Given the description of an element on the screen output the (x, y) to click on. 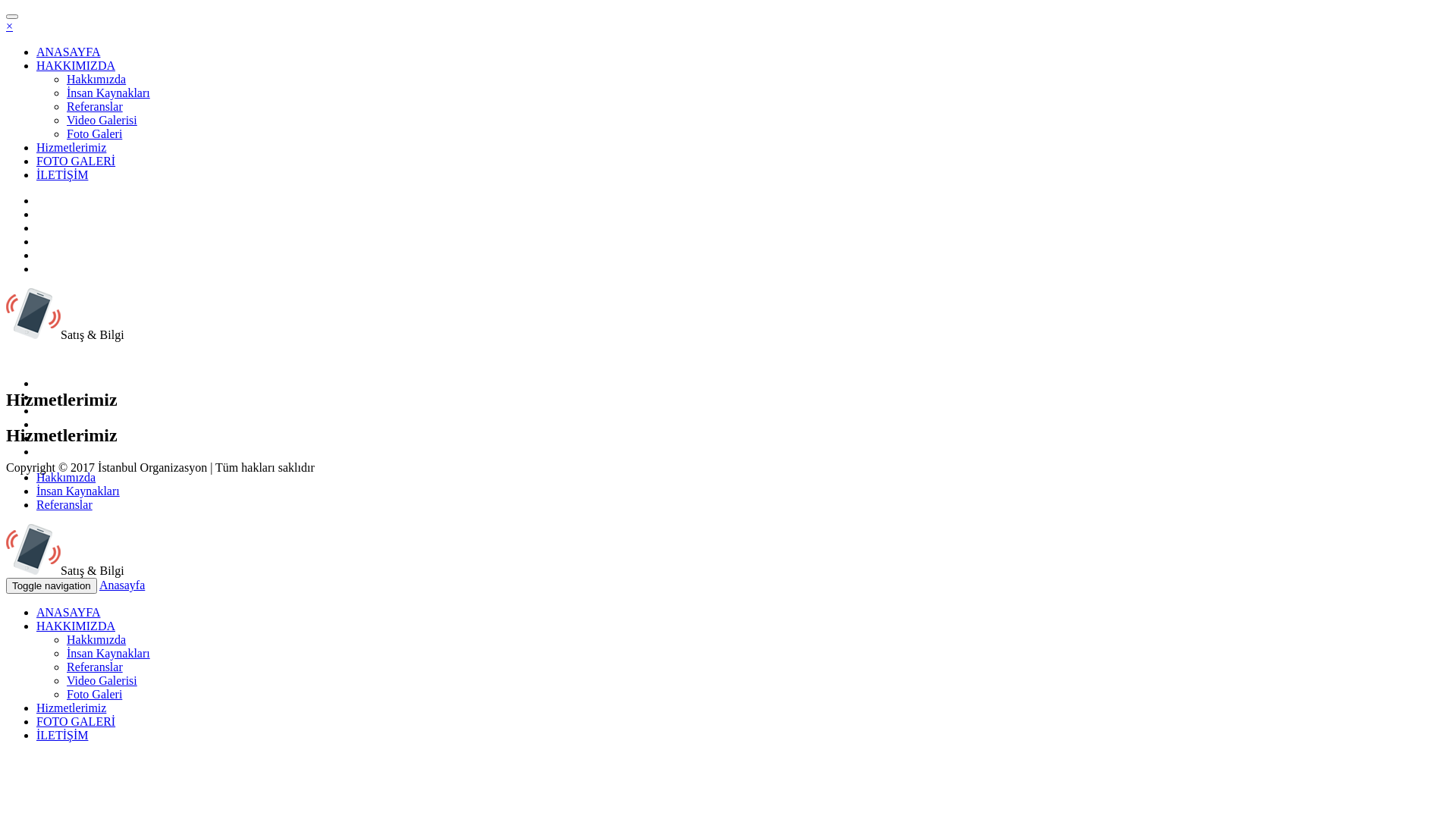
Referanslar Element type: text (94, 666)
Video Galerisi Element type: text (101, 680)
ANASAYFA Element type: text (68, 611)
ANASAYFA Element type: text (68, 51)
Referanslar Element type: text (64, 504)
Video Galerisi Element type: text (101, 119)
HAKKIMIZDA Element type: text (75, 625)
Foto Galeri Element type: text (94, 133)
Toggle navigation Element type: text (51, 585)
Hizmetlerimiz Element type: text (71, 147)
Anasayfa Element type: text (121, 584)
Foto Galeri Element type: text (94, 693)
Hizmetlerimiz Element type: text (71, 707)
HAKKIMIZDA Element type: text (75, 65)
Referanslar Element type: text (94, 106)
